Given the description of an element on the screen output the (x, y) to click on. 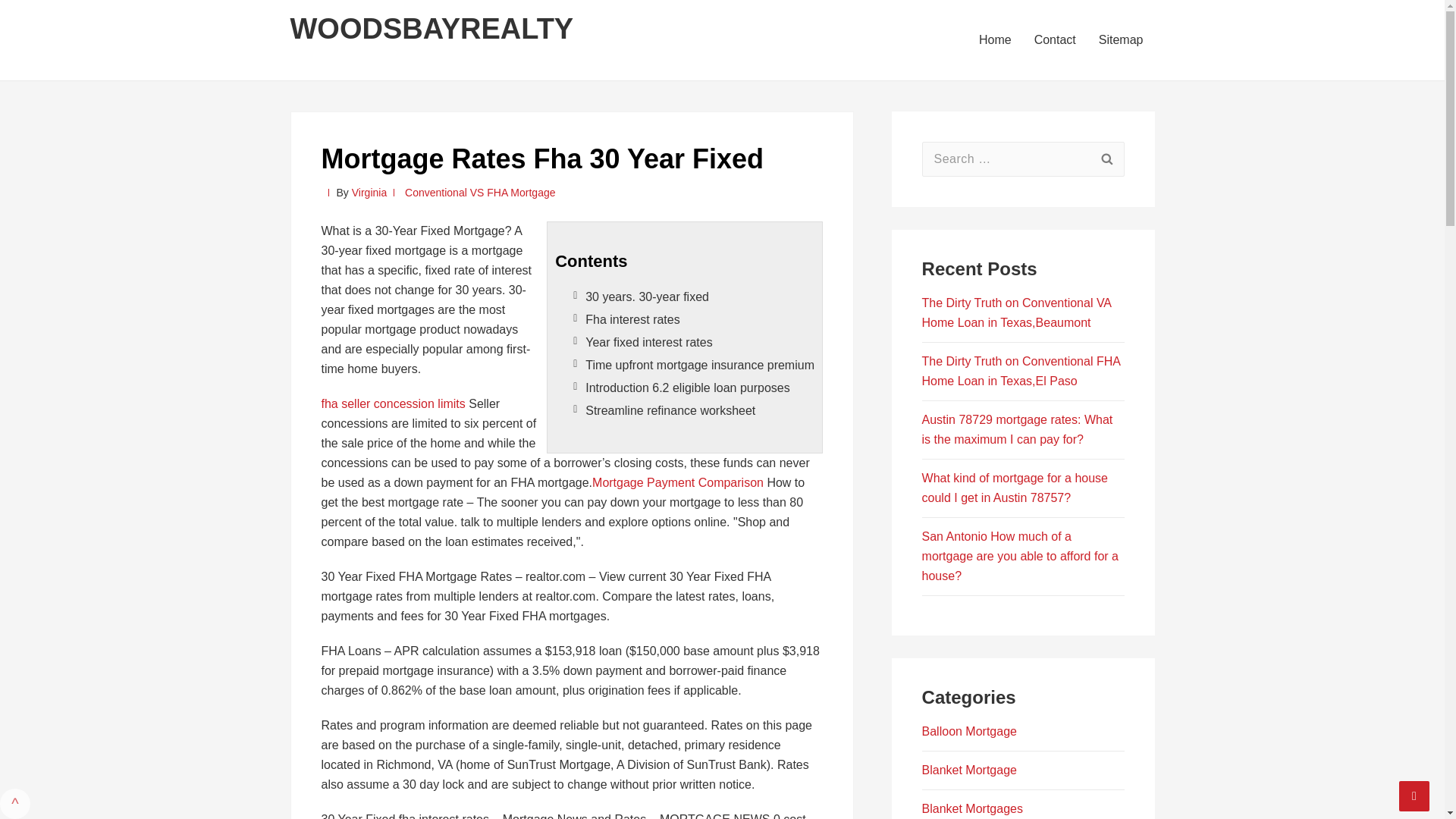
Conventional VS FHA Mortgage (479, 192)
View all posts by Virginia (369, 192)
Balloon Mortgage (968, 730)
Streamline refinance worksheet (670, 410)
Introduction 6.2 eligible loan purposes (687, 387)
Contact (1055, 39)
Search (1106, 158)
Search (1106, 158)
